Given the description of an element on the screen output the (x, y) to click on. 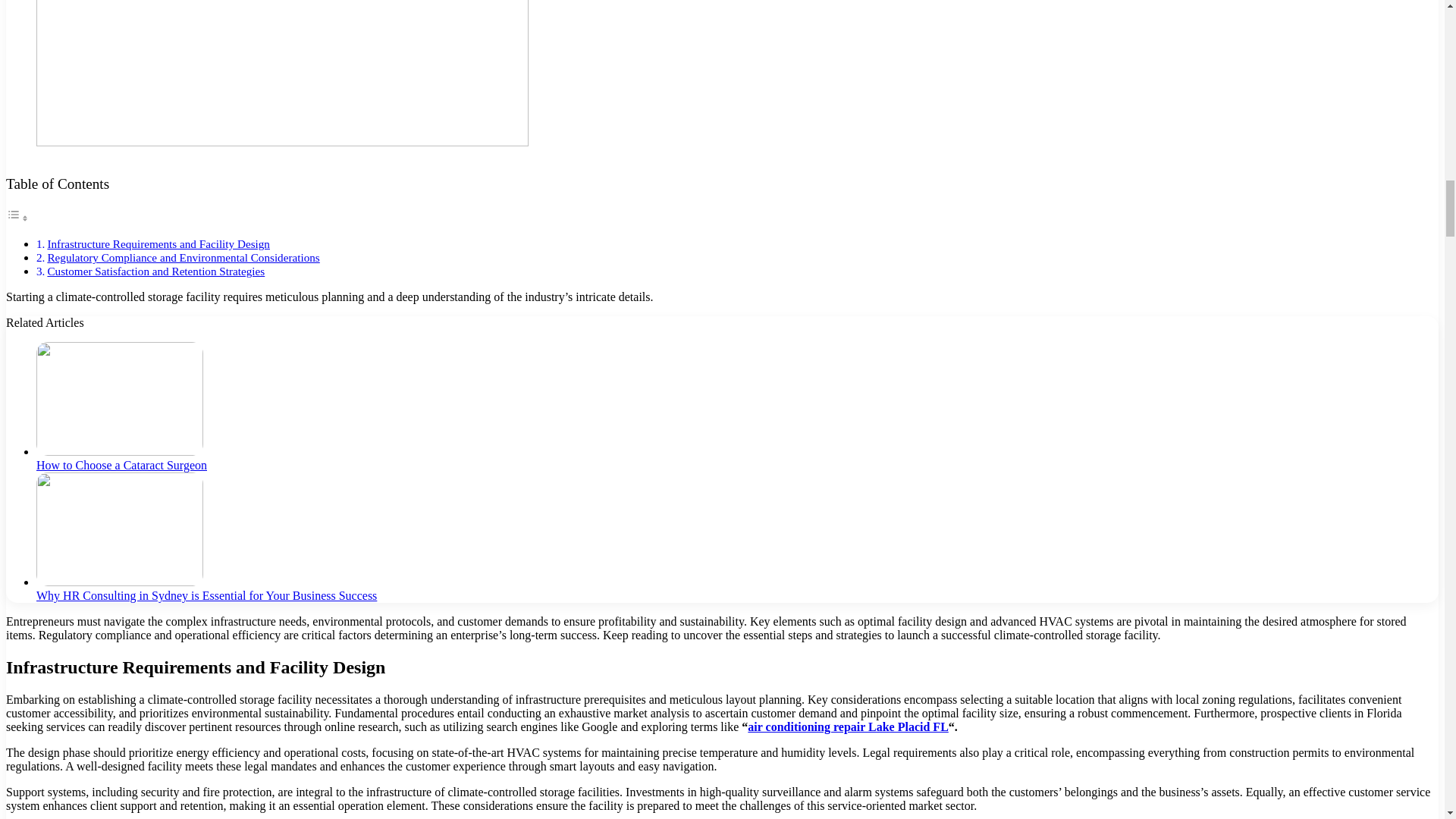
Customer Satisfaction and Retention Strategies (155, 270)
Customer Satisfaction and Retention Strategies (155, 270)
Infrastructure Requirements and Facility Design (157, 243)
How to Choose a Cataract Surgeon (121, 464)
Regulatory Compliance and Environmental Considerations (182, 256)
Regulatory Compliance and Environmental Considerations (182, 256)
Infrastructure Requirements and Facility Design (157, 243)
air conditioning repair Lake Placid FL (847, 726)
